Given the description of an element on the screen output the (x, y) to click on. 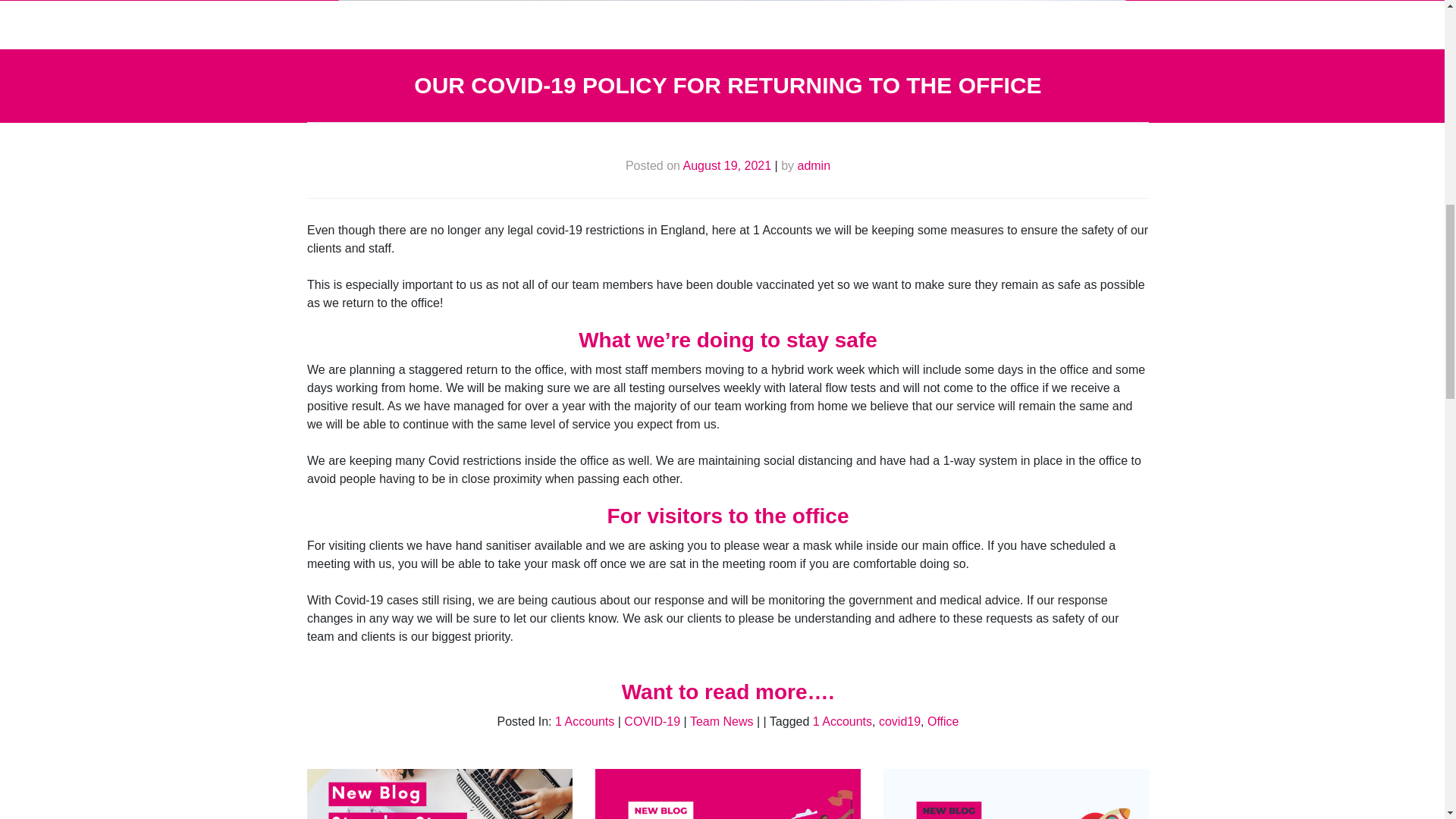
Office (943, 721)
covid19 (899, 721)
August 19, 2021 (726, 164)
admin (812, 164)
Team News (722, 721)
COVID-19 (651, 721)
1 Accounts (584, 721)
1 Accounts (842, 721)
